Given the description of an element on the screen output the (x, y) to click on. 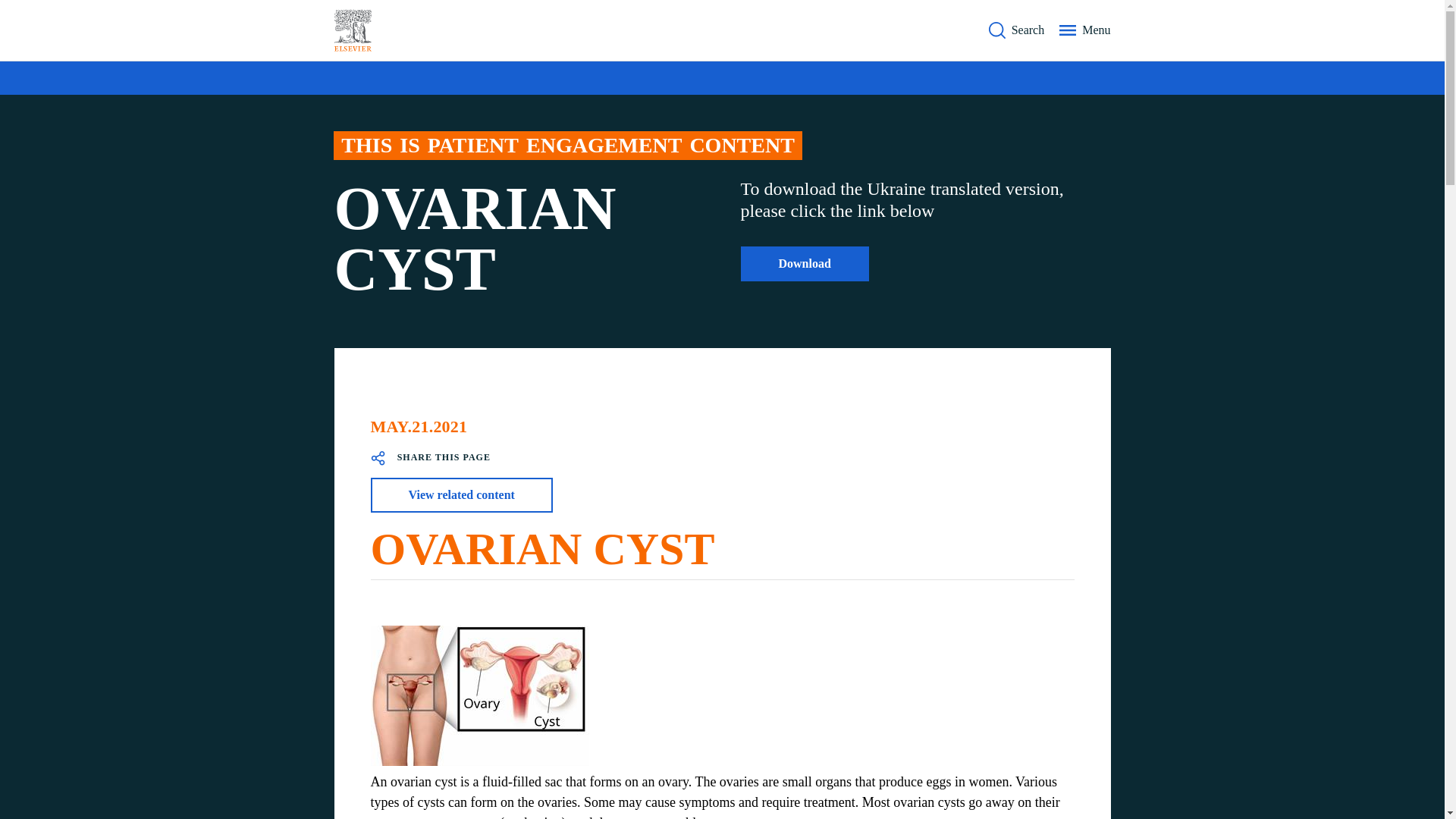
Menu (1084, 30)
Download (803, 263)
SHARE THIS PAGE (429, 458)
View related content (460, 494)
Search (1016, 30)
